Given the description of an element on the screen output the (x, y) to click on. 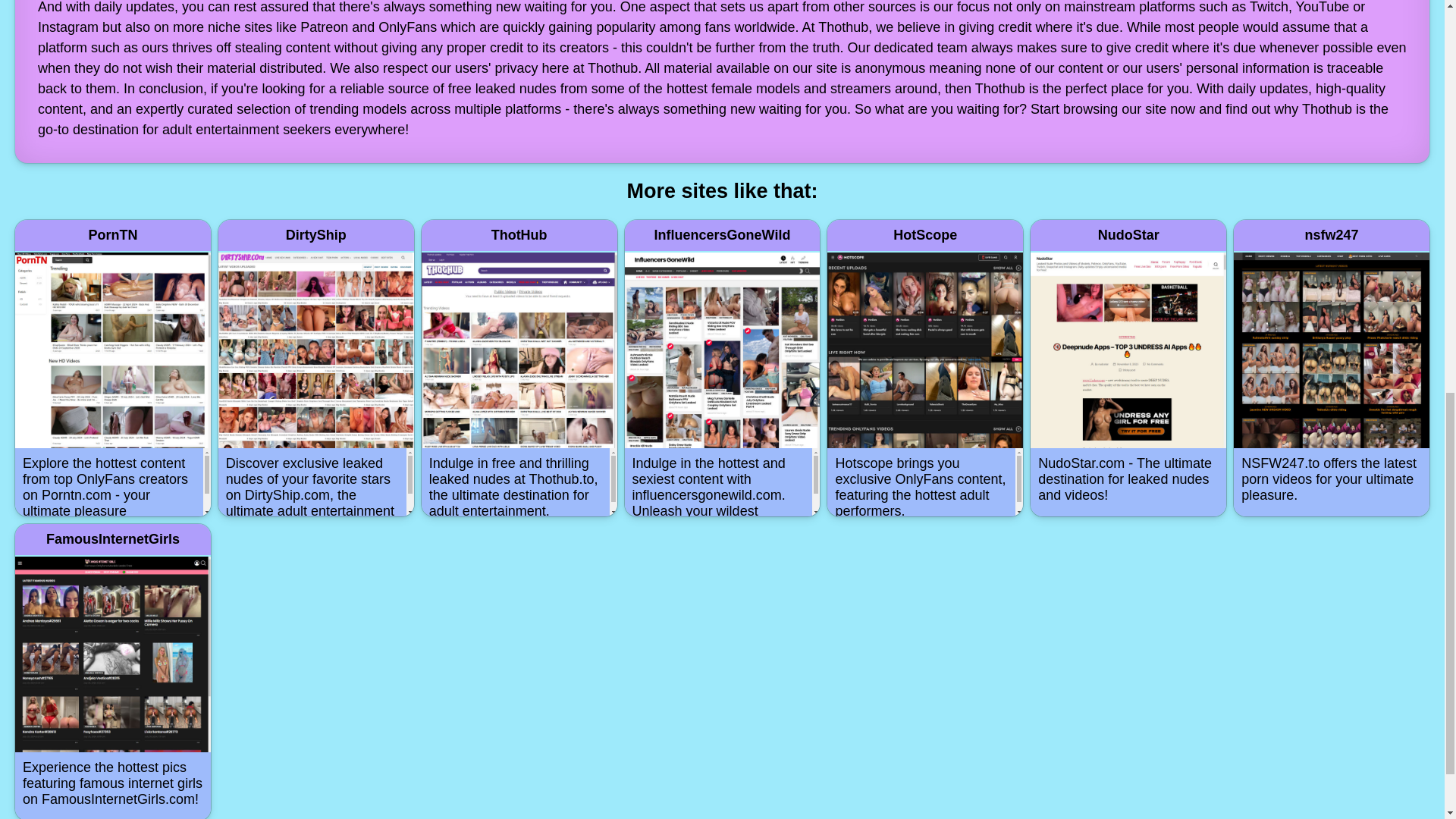
NudoStar (1127, 234)
nsfw247 (1331, 234)
PornTN (111, 234)
FamousInternetGirls (112, 539)
HotScope (924, 234)
DirtyShip (315, 234)
ThotHub (519, 234)
InfluencersGoneWild (721, 234)
